Given the description of an element on the screen output the (x, y) to click on. 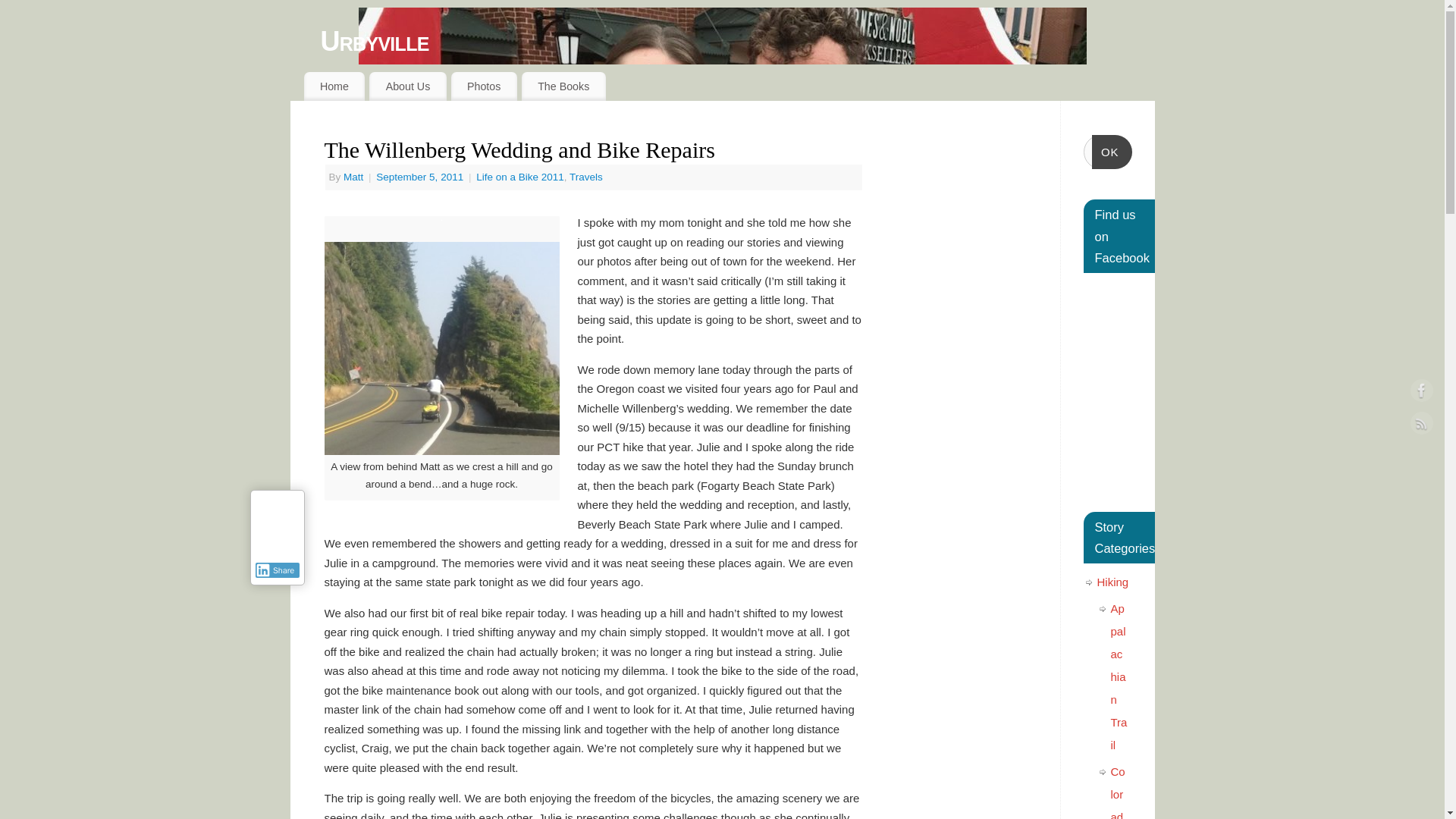
Photos (483, 86)
Coasting on the coast (441, 348)
Urbyville (737, 41)
View all posts by Matt (352, 176)
Matt (352, 176)
OK (1112, 151)
About Us (407, 86)
Travels (585, 176)
September 5, 2011 (420, 176)
Life on a Bike 2011 (520, 176)
Home (333, 86)
The Books (563, 86)
Hiking (1112, 581)
10:31 am (420, 176)
Urbyville (737, 41)
